Given the description of an element on the screen output the (x, y) to click on. 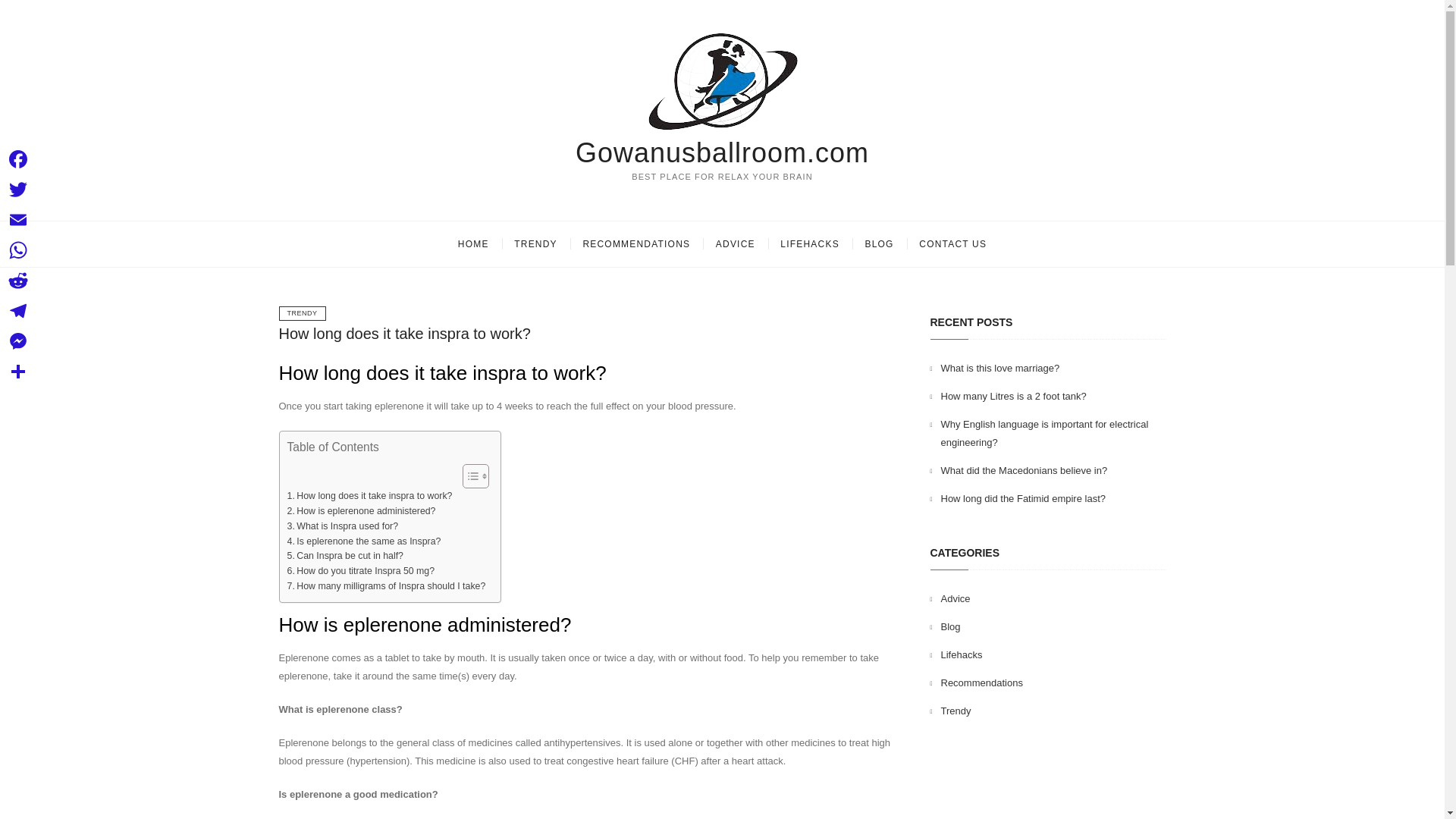
Can Inspra be cut in half? (344, 556)
HOME (473, 243)
What did the Macedonians believe in? (1023, 470)
Can Inspra be cut in half? (344, 556)
Gowanusballroom.com (722, 152)
How many milligrams of Inspra should I take? (385, 586)
LIFEHACKS (809, 243)
What is this love marriage? (999, 367)
How long does it take inspra to work? (405, 333)
Is eplerenone the same as Inspra? (363, 541)
CONTACT US (952, 243)
How many milligrams of Inspra should I take? (385, 586)
How long does it take inspra to work? (368, 496)
How long did the Fatimid empire last? (1022, 498)
